Given the description of an element on the screen output the (x, y) to click on. 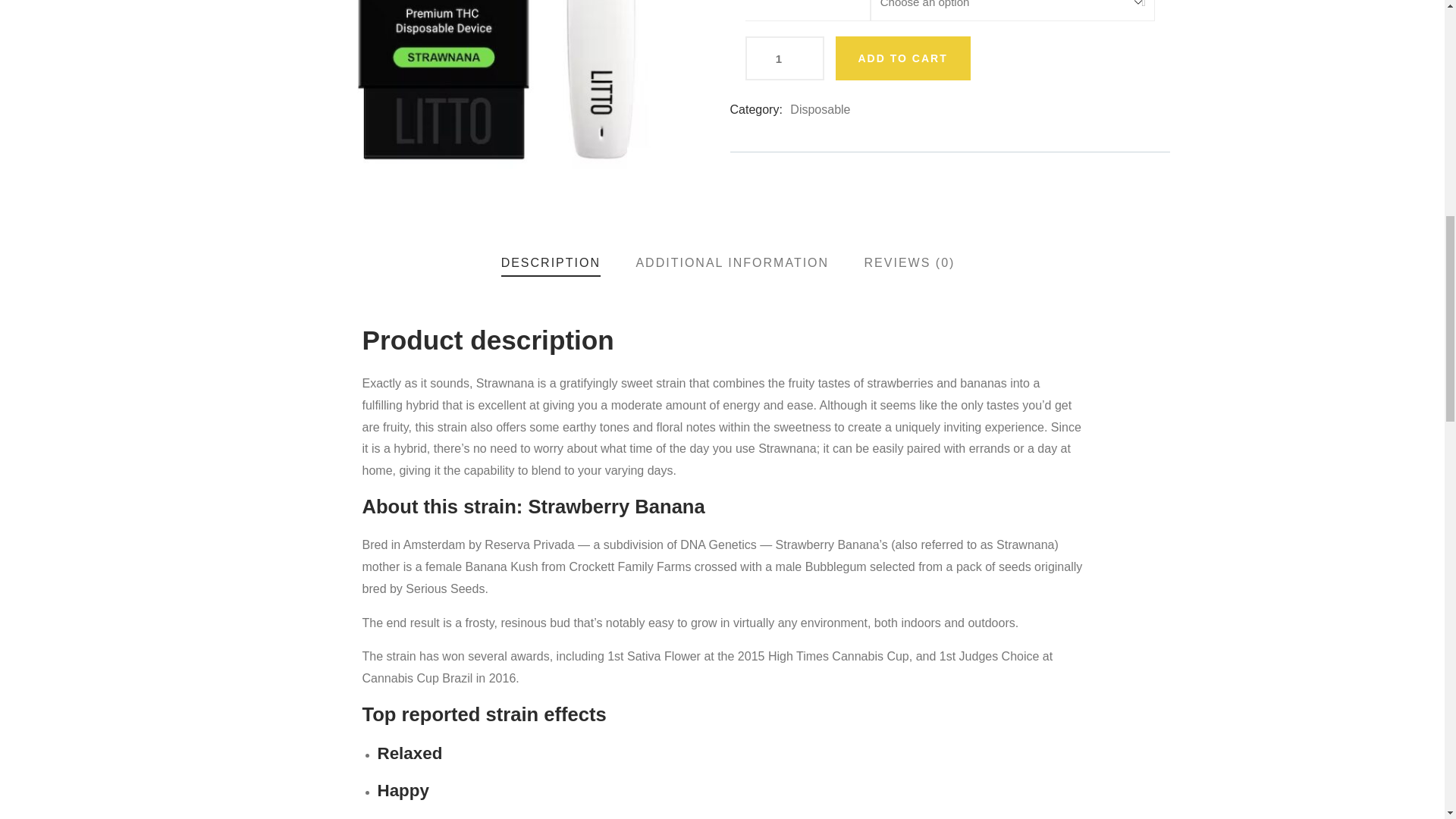
1 (784, 58)
